Given the description of an element on the screen output the (x, y) to click on. 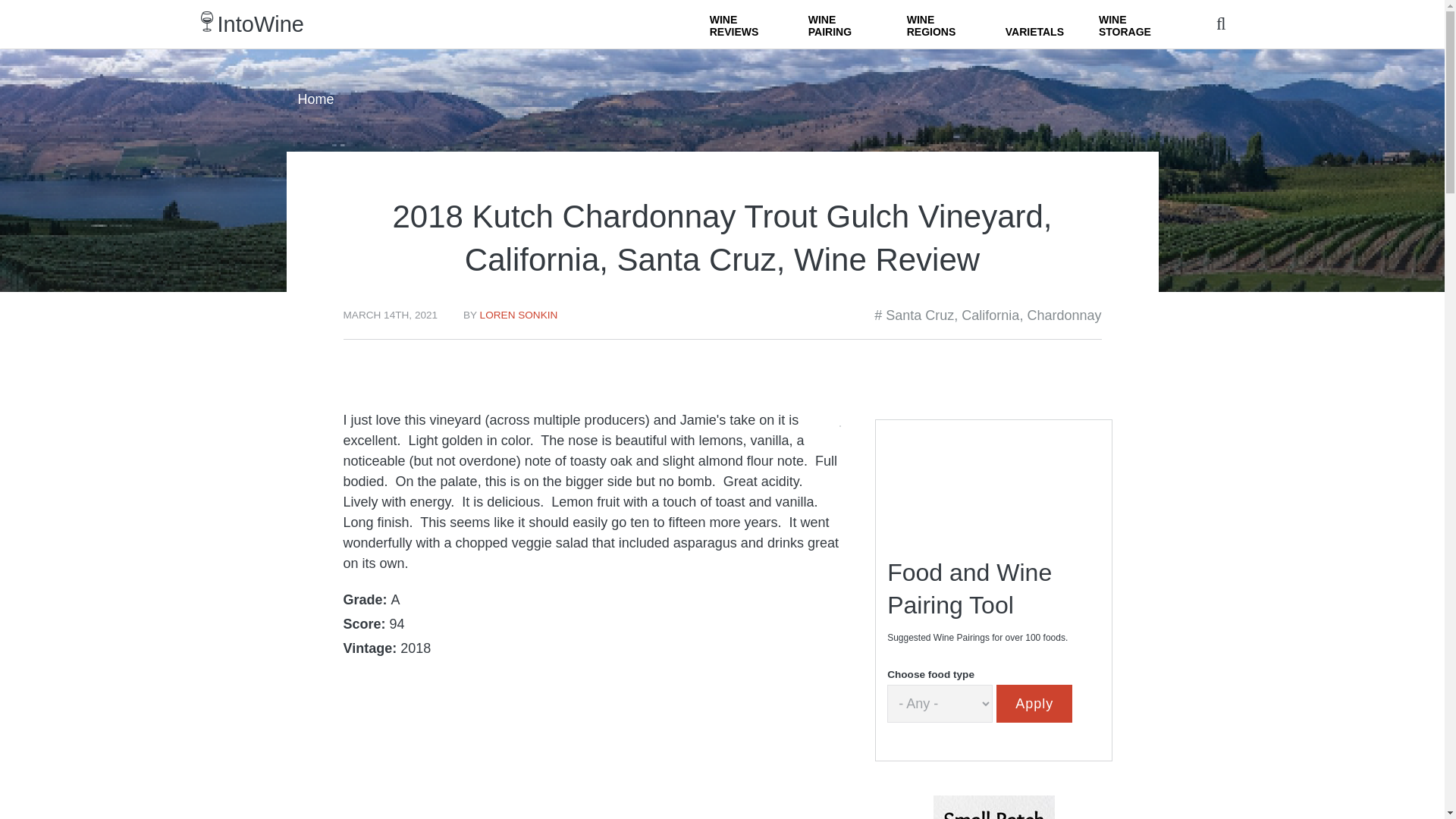
Wine Reviews (741, 24)
WINE REVIEWS (741, 24)
Chardonnay (1063, 314)
Wine Storage (1130, 24)
WINE STORAGE (1130, 24)
Search (907, 51)
WINE PAIRING (839, 24)
Wine Pairing (839, 24)
Apply (1033, 703)
Home (260, 24)
